Given the description of an element on the screen output the (x, y) to click on. 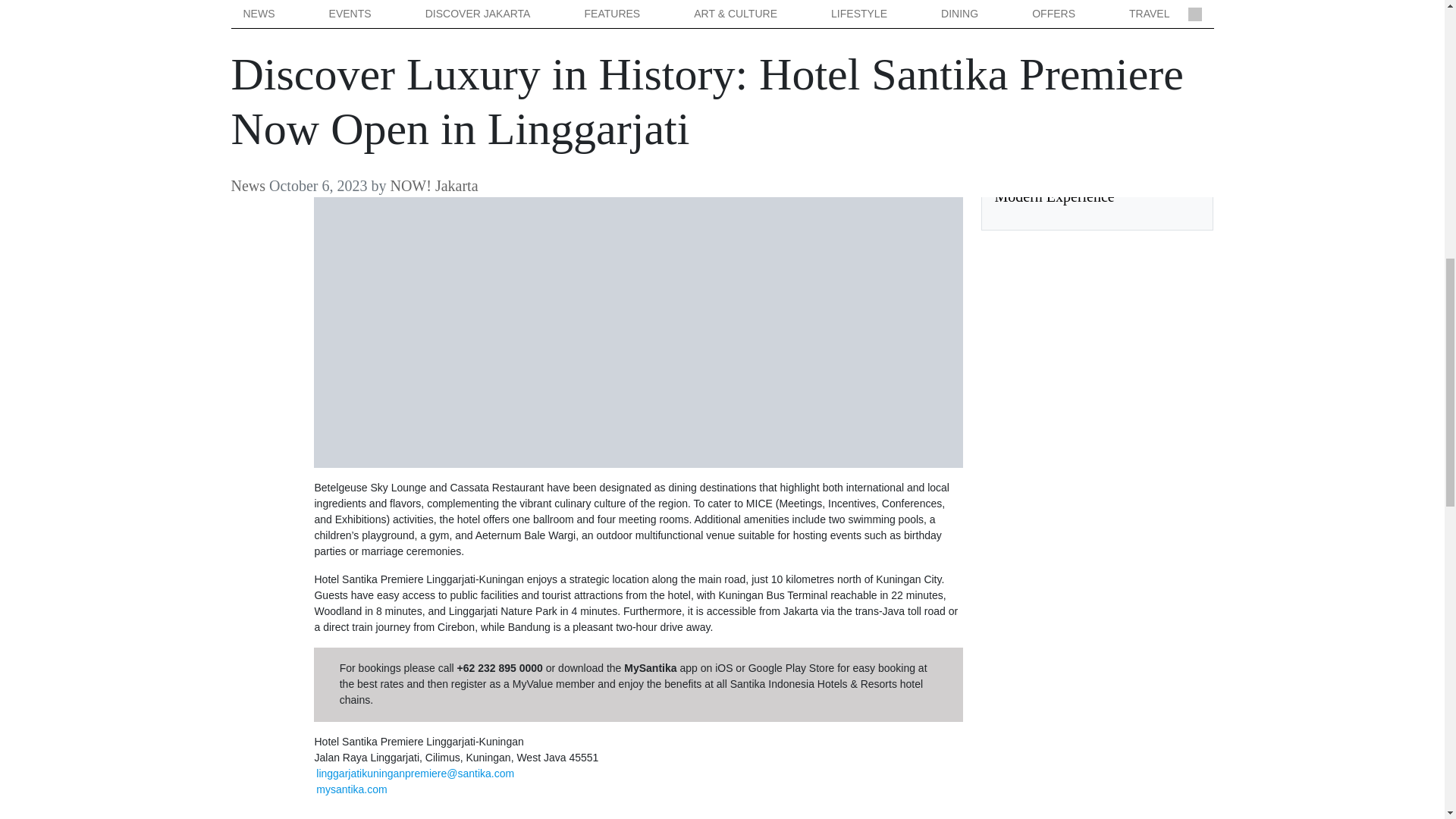
Explore Indonesia (1036, 136)
mysantika.com (351, 789)
Stay Offers (1020, 28)
